Given the description of an element on the screen output the (x, y) to click on. 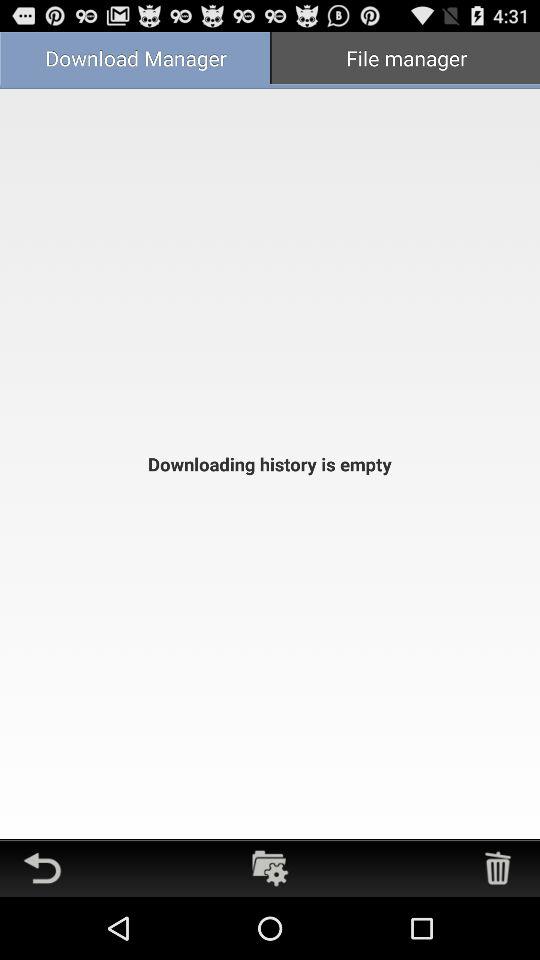
launch the item at the top left corner (135, 60)
